Given the description of an element on the screen output the (x, y) to click on. 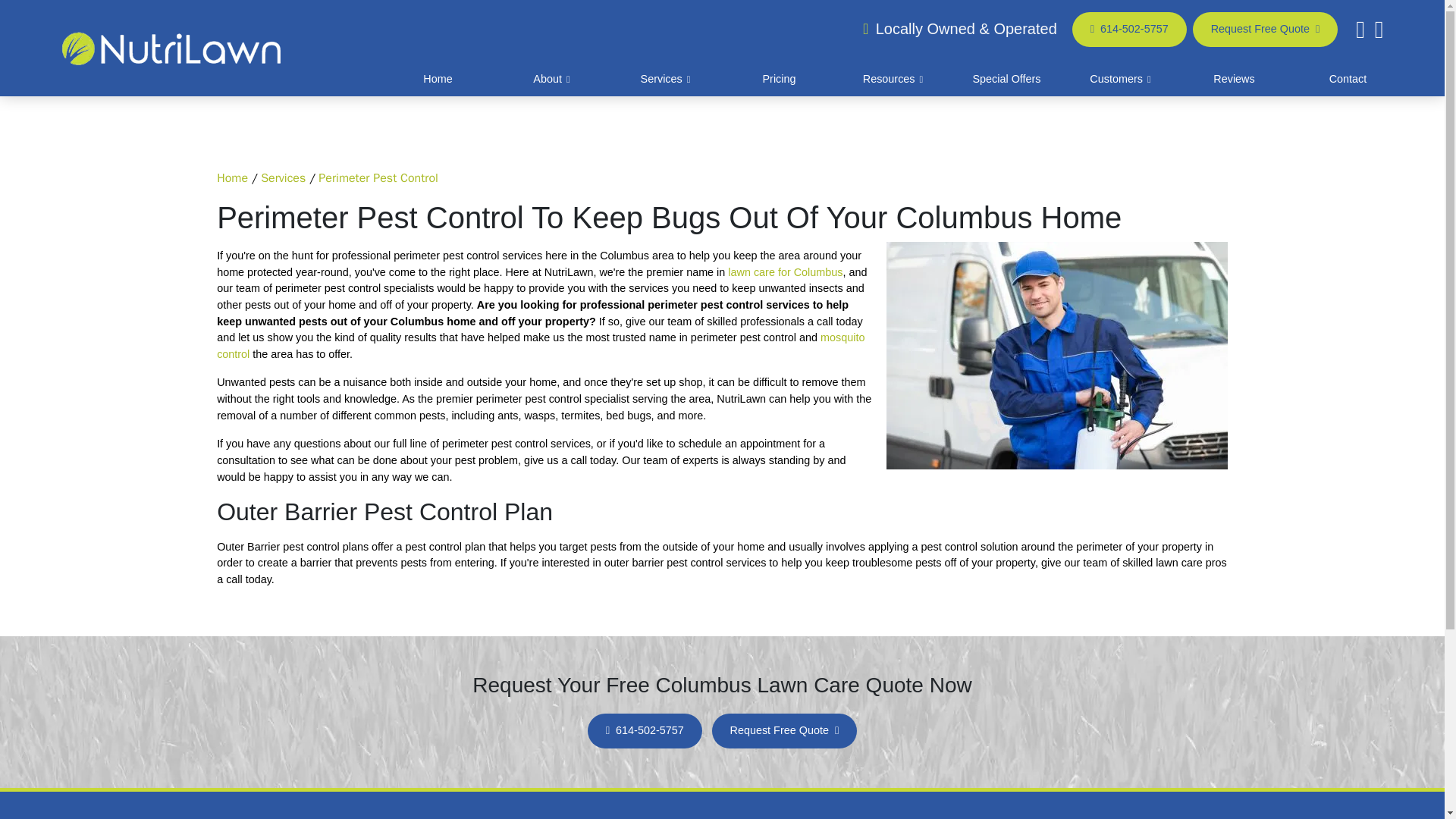
Services (282, 177)
Request Free Quote (1265, 29)
Home (231, 177)
Services (665, 79)
614-502-5757 (1128, 29)
About (550, 79)
Home (437, 79)
Perimeter Pest Control (378, 177)
